Given the description of an element on the screen output the (x, y) to click on. 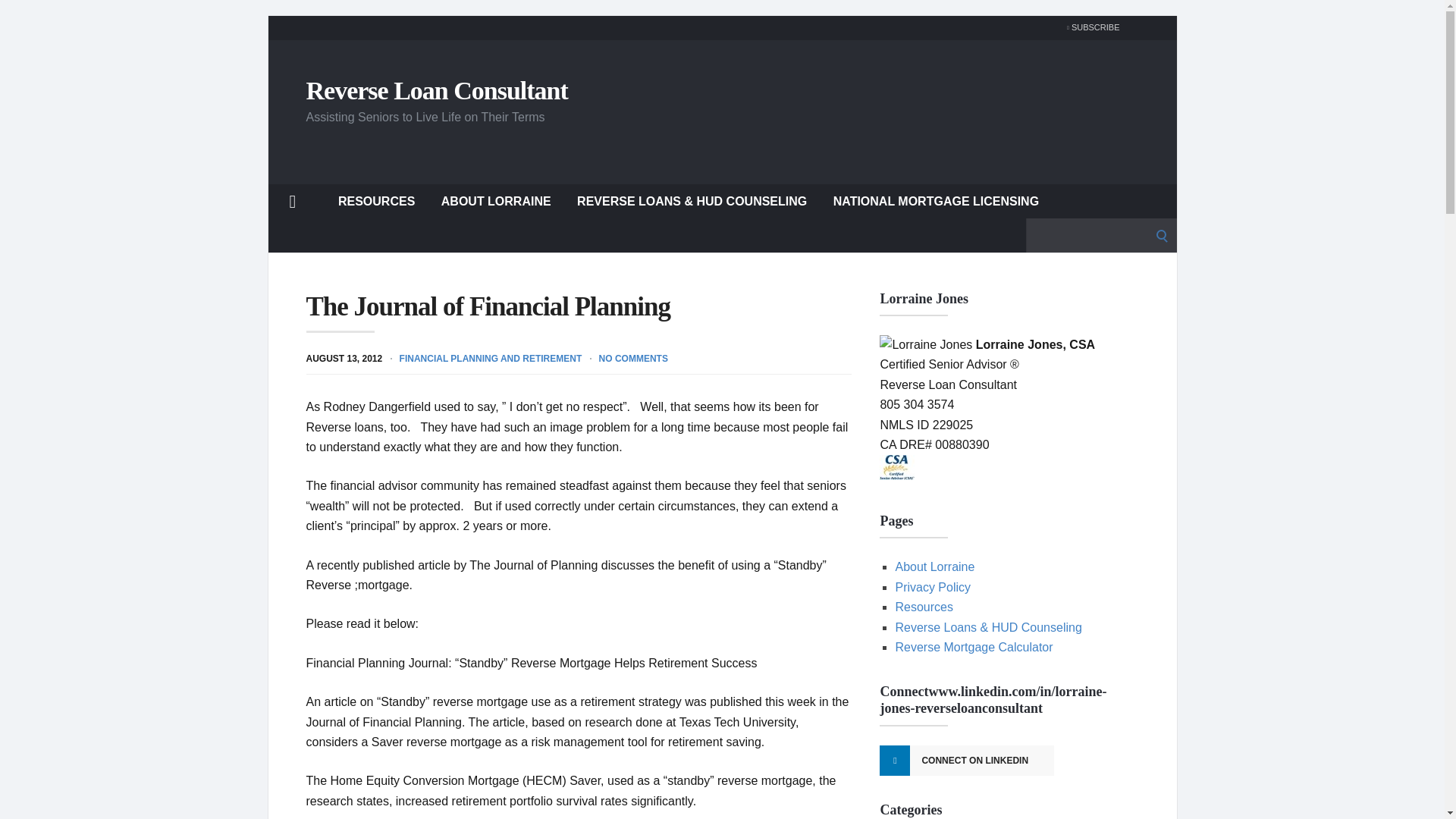
Search (16, 17)
NATIONAL MORTGAGE LICENSING (935, 200)
Resources (923, 606)
ABOUT LORRAINE (496, 200)
CONNECT ON LINKEDIN (966, 760)
Privacy Policy (933, 586)
About Lorraine (934, 566)
Reverse Loan Consultant (436, 89)
NO COMMENTS (633, 357)
FINANCIAL PLANNING AND RETIREMENT (490, 357)
RESOURCES (375, 200)
SUBSCRIBE (1089, 27)
Reverse Mortgage Calculator (973, 646)
